Given the description of an element on the screen output the (x, y) to click on. 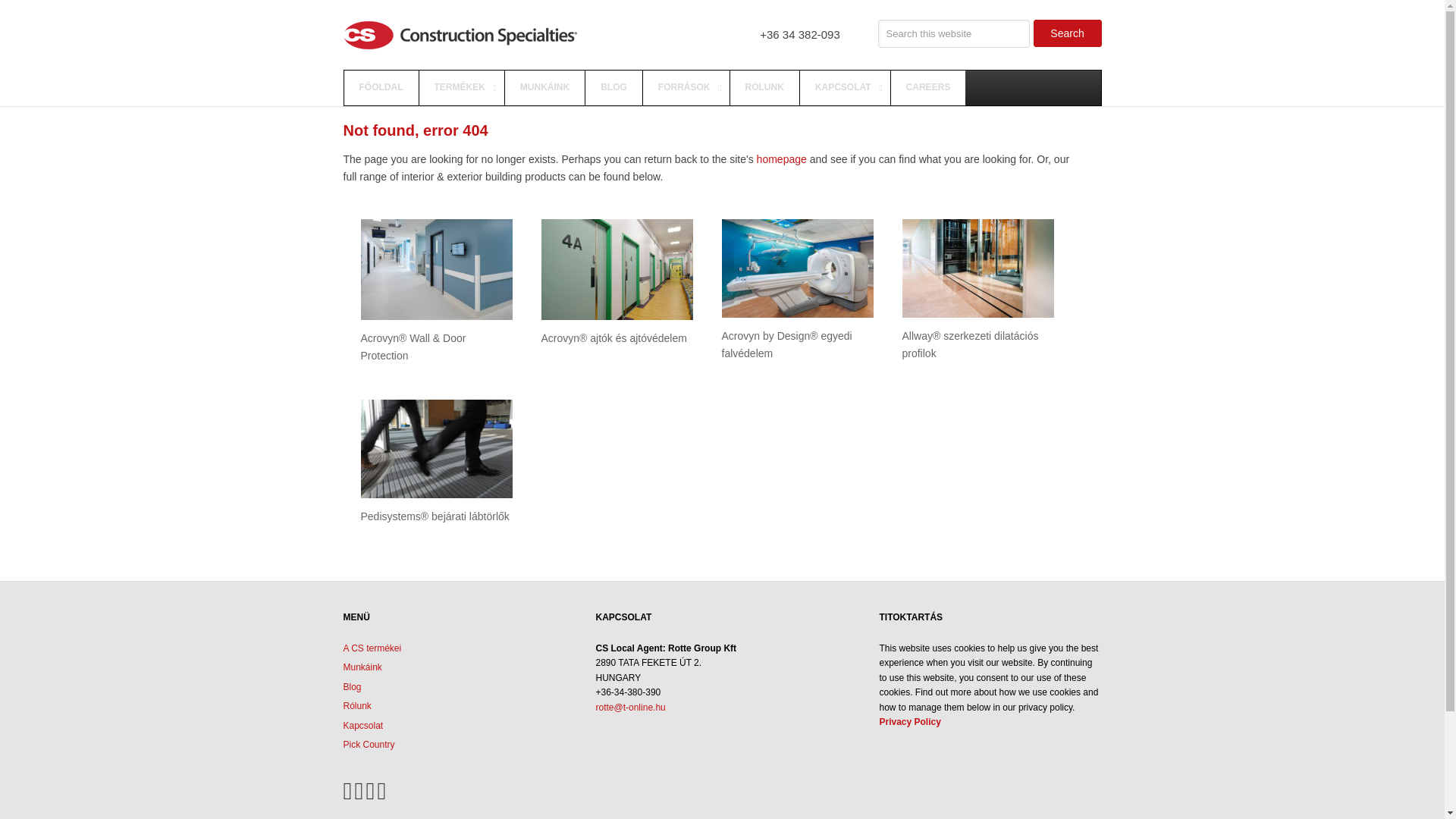
Search (1066, 32)
BLOG (613, 87)
CONSTRUCTION SPECIALTIES (394, 33)
Blog (351, 686)
CAREERS (927, 87)
Search (1066, 32)
Search (1066, 32)
KAPCSOLAT (844, 87)
homepage (781, 159)
